Given the description of an element on the screen output the (x, y) to click on. 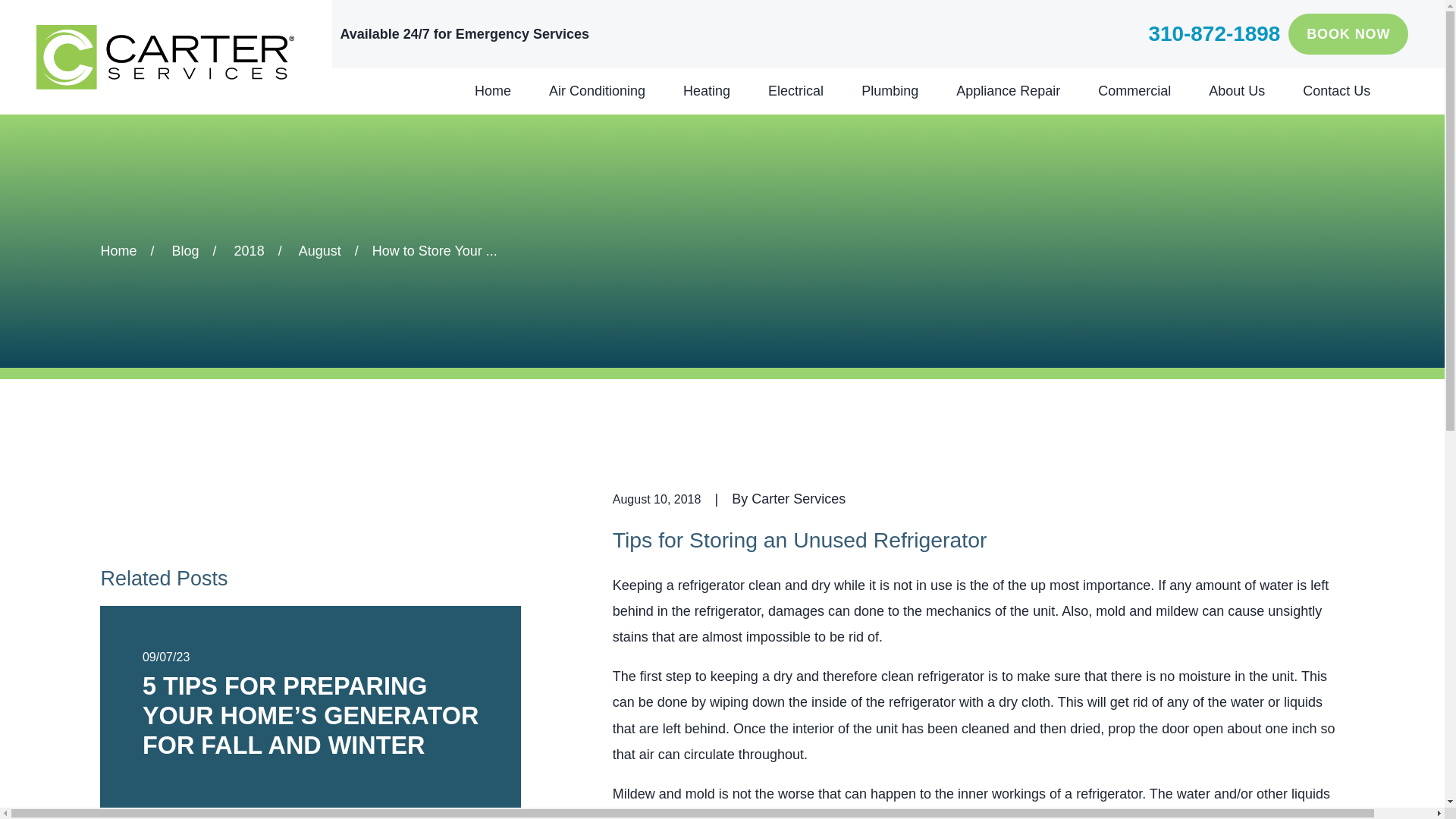
Appliance Repair (1007, 90)
BOOK NOW (1347, 33)
Heating (706, 90)
Home (165, 57)
Plumbing (889, 90)
Go Home (118, 250)
Electrical (796, 90)
Air Conditioning (596, 90)
Home (492, 90)
310-872-1898 (1213, 34)
